Given the description of an element on the screen output the (x, y) to click on. 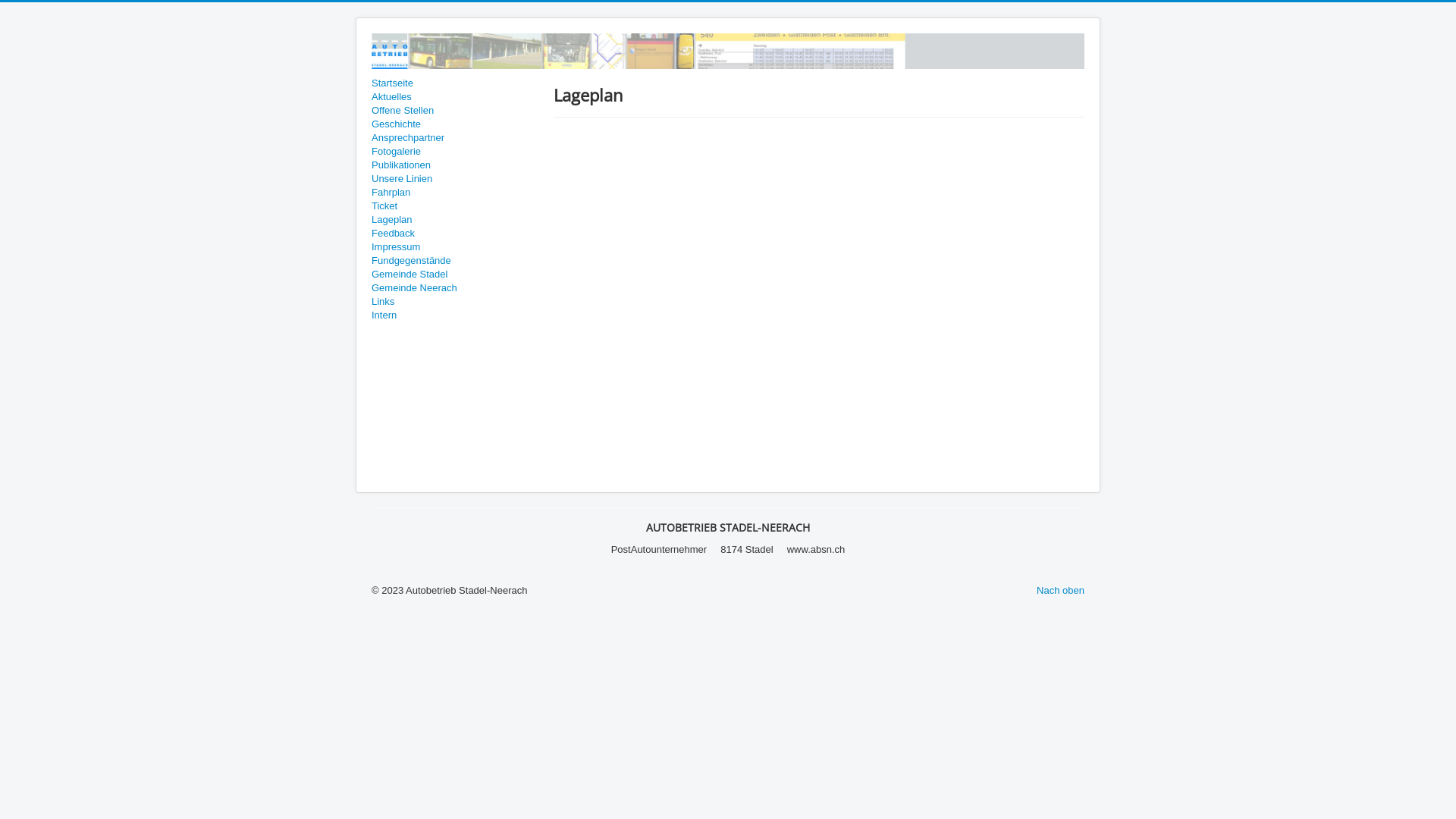
Publikationen Element type: text (454, 165)
Unsere Linien Element type: text (454, 178)
Fahrplan Element type: text (454, 192)
Nach oben Element type: text (1060, 590)
Feedback Element type: text (454, 233)
Startseite Element type: text (454, 83)
Geschichte Element type: text (454, 124)
Intern Element type: text (454, 315)
Ticket Element type: text (454, 206)
Gemeinde Neerach Element type: text (454, 287)
Offene Stellen Element type: text (454, 110)
Links Element type: text (454, 301)
Gemeinde Stadel Element type: text (454, 274)
Ansprechpartner Element type: text (454, 137)
Impressum Element type: text (454, 247)
Aktuelles Element type: text (454, 96)
Fotogalerie Element type: text (454, 151)
Lageplan Element type: text (454, 219)
